Given the description of an element on the screen output the (x, y) to click on. 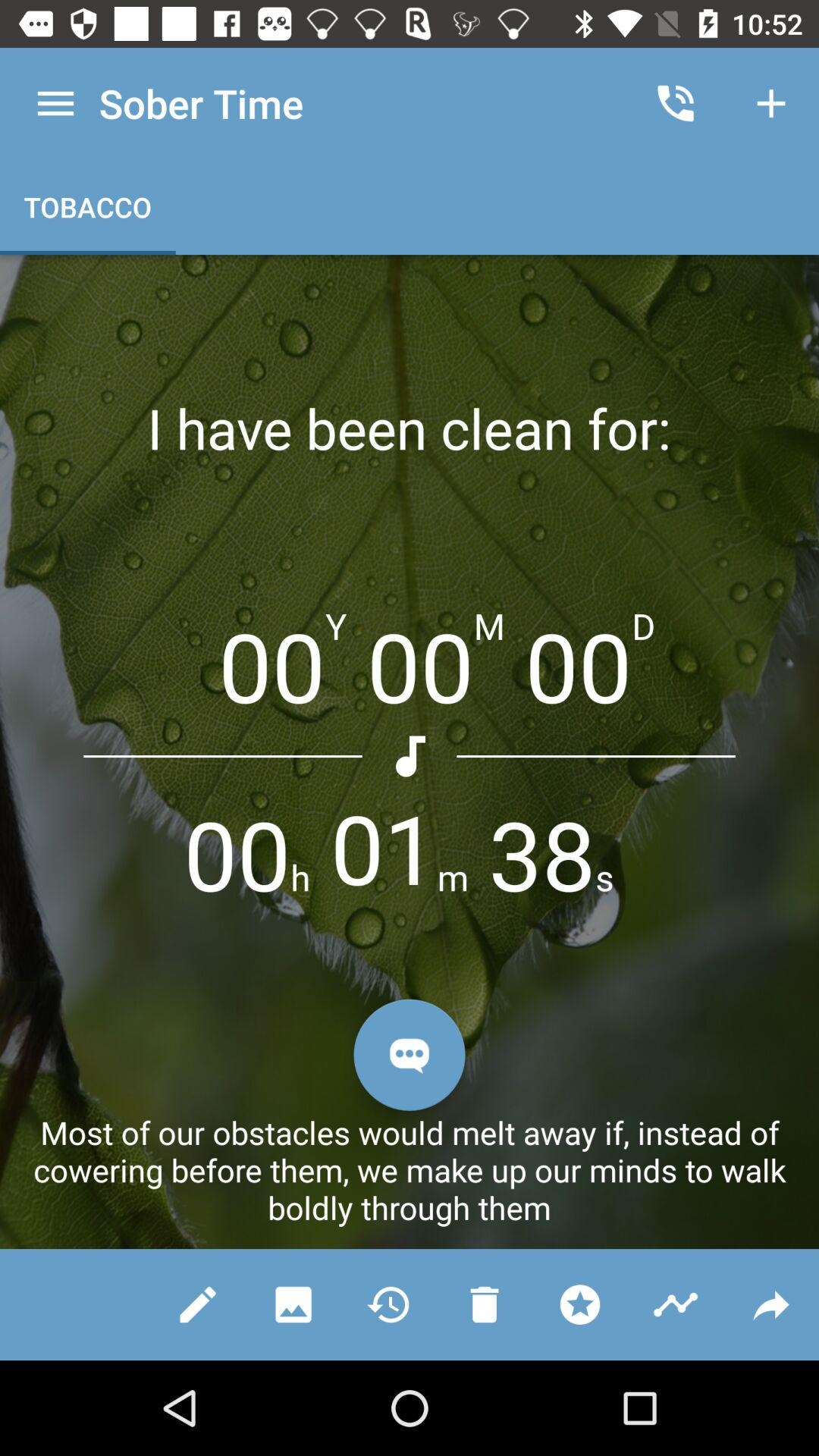
open menu (55, 103)
